Given the description of an element on the screen output the (x, y) to click on. 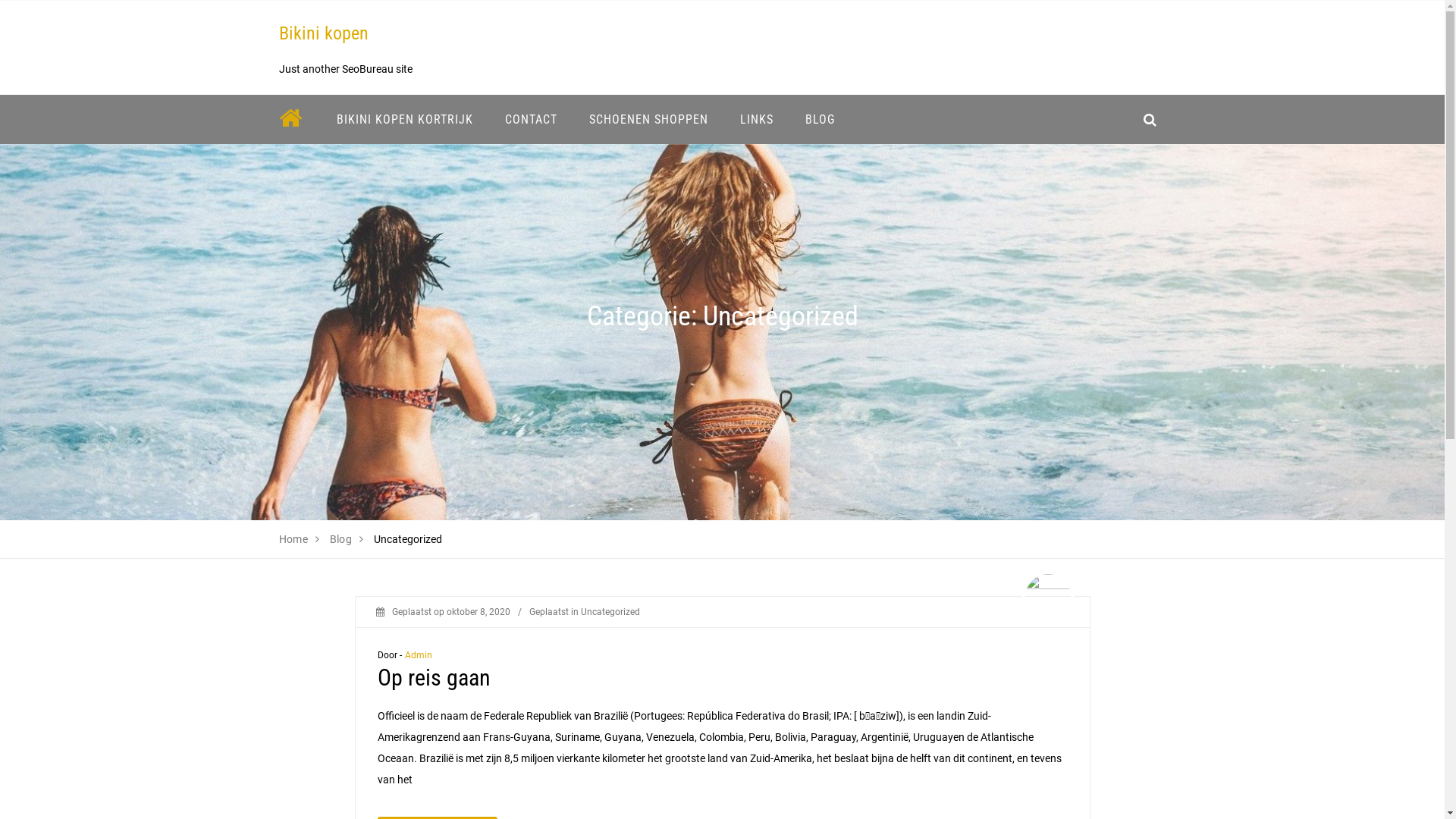
CONTACT Element type: text (530, 119)
BIKINI KOPEN KORTRIJK Element type: text (404, 119)
LINKS Element type: text (755, 119)
Home Element type: text (293, 539)
SCHOENEN SHOPPEN Element type: text (648, 119)
search_icon Element type: hover (1148, 119)
BLOG Element type: text (819, 119)
Blog Element type: text (340, 539)
Bikini kopen Element type: text (323, 32)
Uncategorized Element type: text (610, 611)
Op reis gaan Element type: text (433, 677)
Admin Element type: text (418, 654)
